Given the description of an element on the screen output the (x, y) to click on. 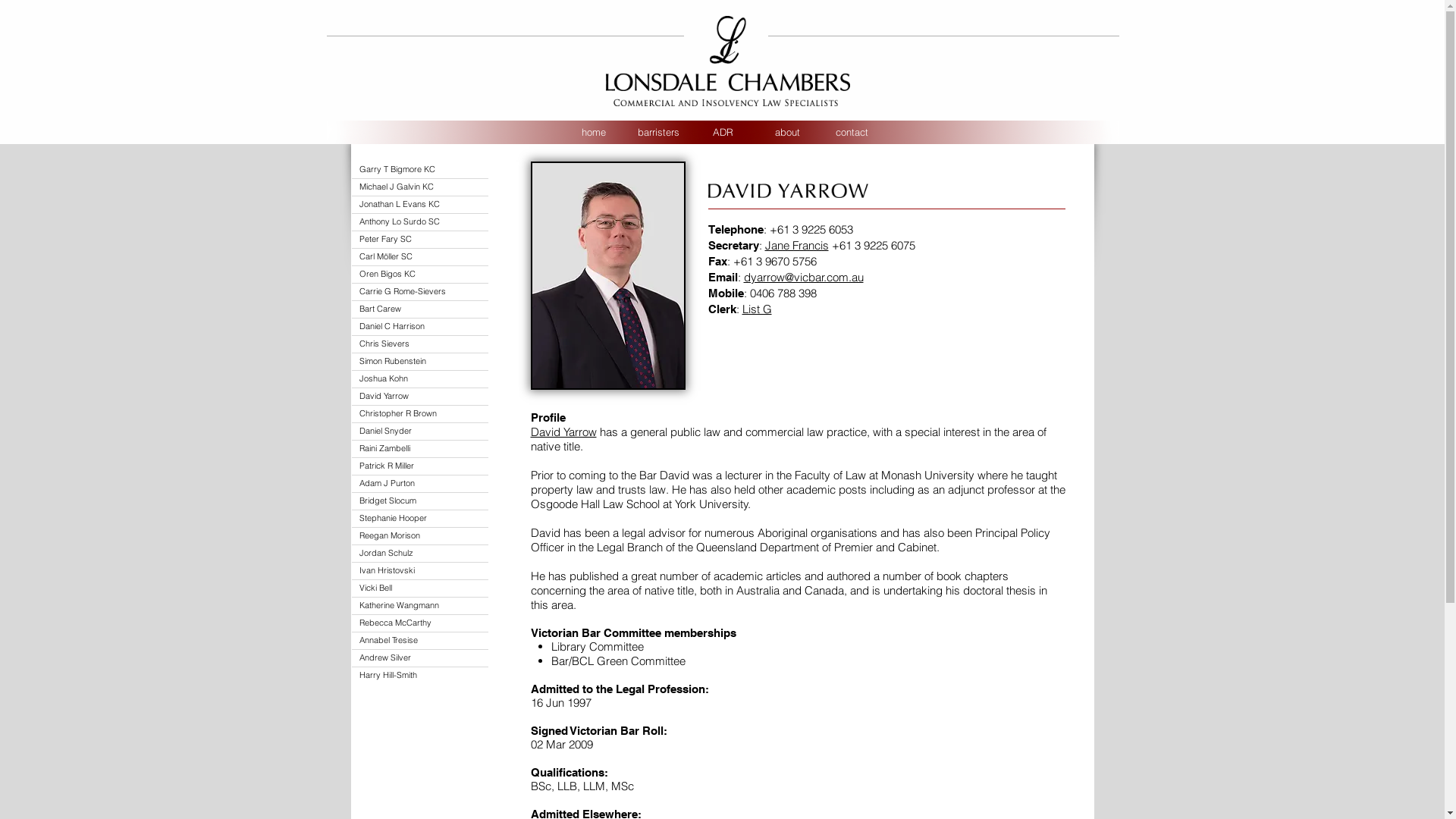
Chris Sievers Element type: text (419, 343)
Lonsdale-Shoot-80.png Element type: hover (607, 275)
barristers Element type: text (658, 132)
Untitled-2.png Element type: hover (722, 132)
Christopher R Brown Element type: text (419, 413)
Peter Fary SC Element type: text (419, 239)
Jordan Schulz Element type: text (419, 553)
Andrew Silver Element type: text (419, 657)
Carrie G Rome-Sievers Element type: text (419, 291)
Katherine Wangmann Element type: text (419, 605)
Anthony Lo Surdo SC Element type: text (419, 221)
Michael J Galvin KC Element type: text (419, 186)
about Element type: text (787, 132)
Daniel Snyder Element type: text (419, 431)
Raini Zambelli Element type: text (419, 448)
David Yarrow Element type: text (563, 431)
David Yarrow Element type: text (419, 396)
Garry T Bigmore KC Element type: text (419, 169)
Oren Bigos KC Element type: text (419, 274)
Jane Francis Element type: text (796, 245)
Joshua Kohn Element type: text (419, 378)
Daniel C Harrison Element type: text (419, 326)
Annabel Tresise Element type: text (419, 640)
Patrick R Miller Element type: text (419, 466)
ADR Element type: text (722, 132)
dyarrow@vicbar.com.au Element type: text (802, 276)
Rebecca McCarthy Element type: text (419, 623)
home Element type: text (593, 132)
contact Element type: text (851, 132)
Jonathan L Evans KC Element type: text (419, 204)
Simon Rubenstein Element type: text (419, 361)
Bart Carew Element type: text (419, 309)
Harry Hill-Smith Element type: text (419, 675)
Vicki Bell Element type: text (419, 588)
Stephanie Hooper Element type: text (419, 518)
Adam J Purton Element type: text (419, 483)
Reegan Morison Element type: text (419, 535)
Bridget Slocum Element type: text (419, 500)
Ivan Hristovski Element type: text (419, 570)
List G Element type: text (756, 308)
